Given the description of an element on the screen output the (x, y) to click on. 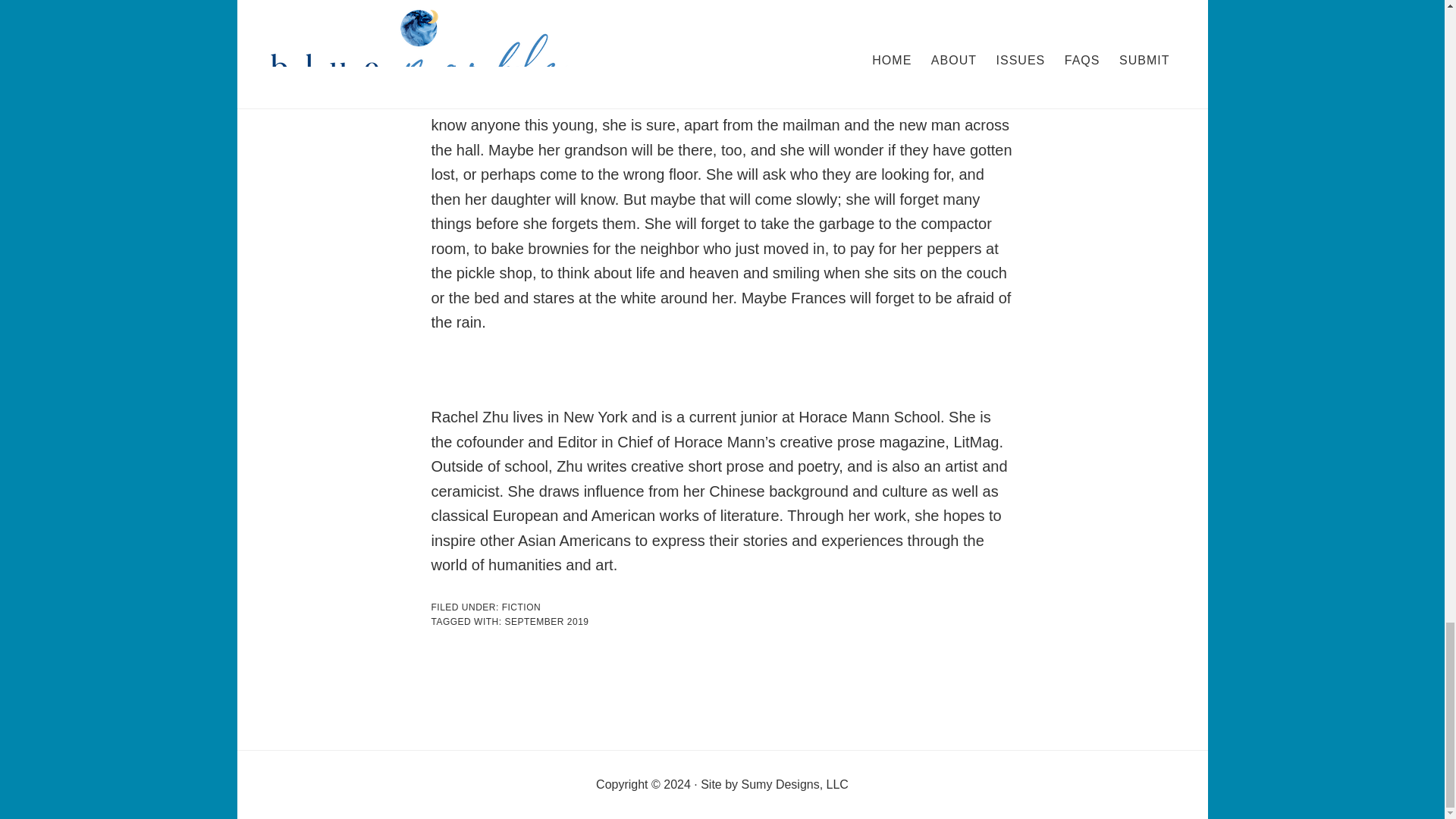
SEPTEMBER 2019 (545, 621)
FICTION (521, 606)
Sumy Designs, LLC (794, 784)
